Given the description of an element on the screen output the (x, y) to click on. 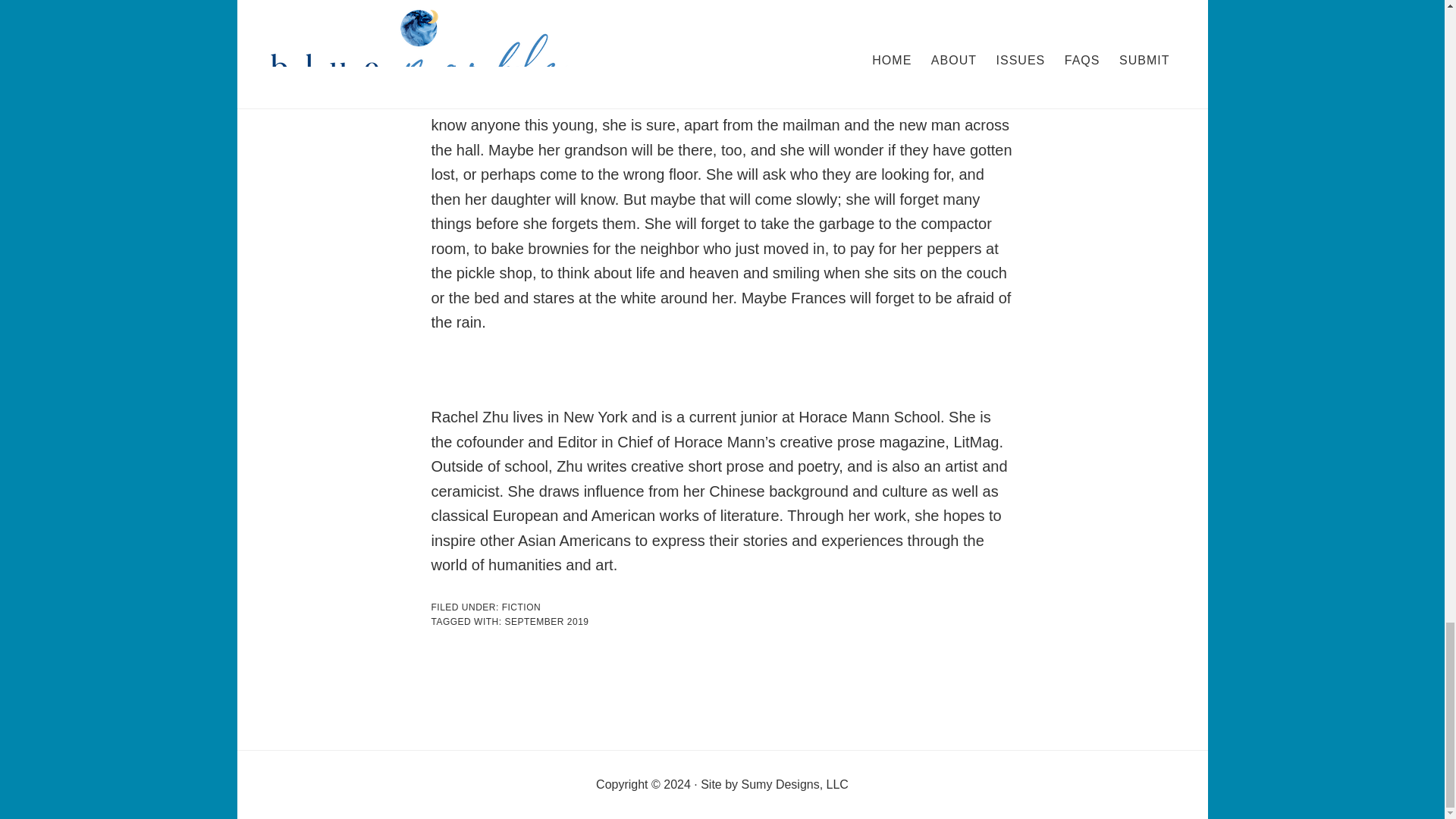
SEPTEMBER 2019 (545, 621)
FICTION (521, 606)
Sumy Designs, LLC (794, 784)
